Given the description of an element on the screen output the (x, y) to click on. 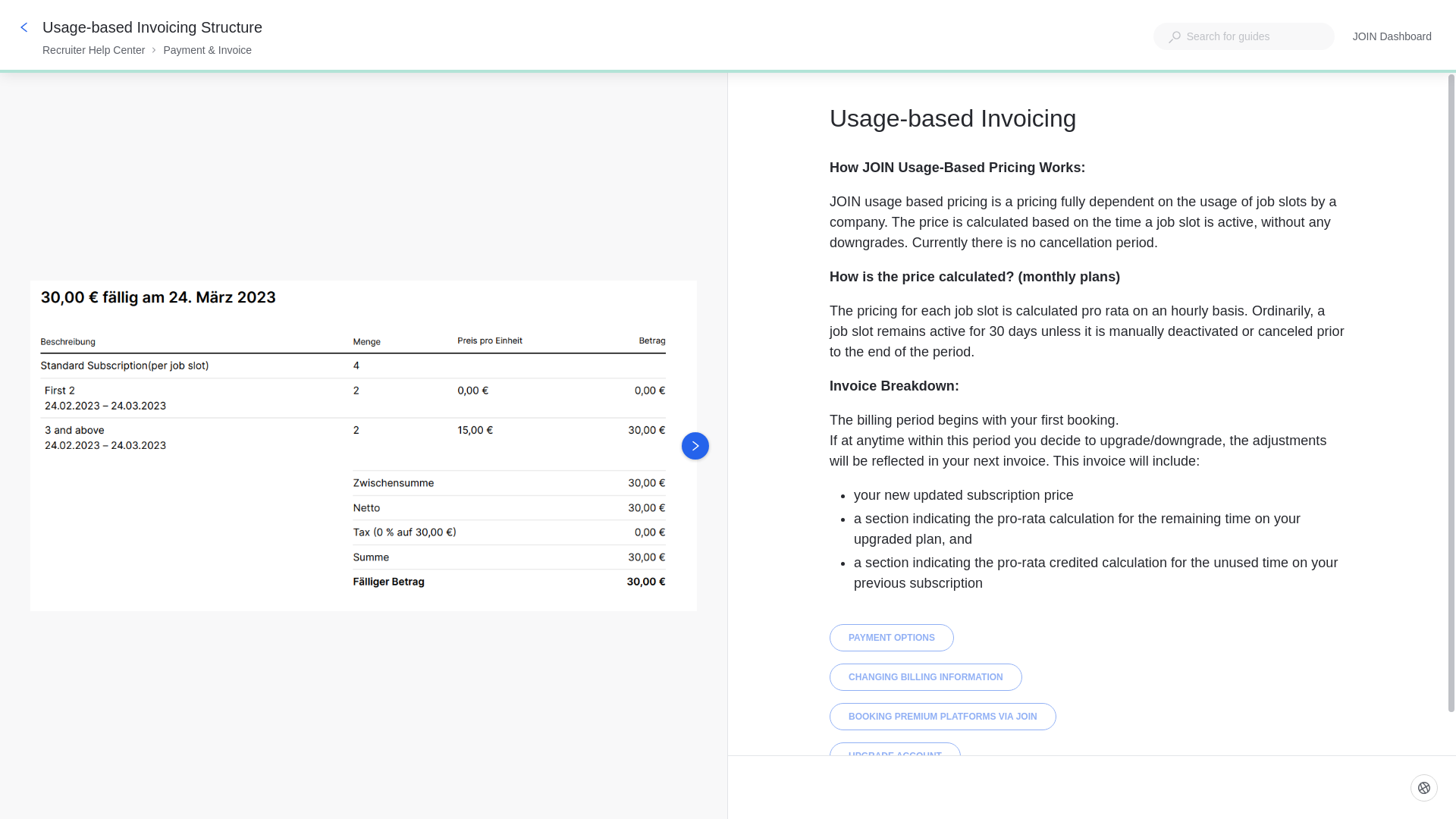
UPGRADE ACCOUNT (894, 755)
PAYMENT OPTIONS (891, 637)
Recruiter Help Center (93, 50)
CHANGING BILLING INFORMATION (925, 677)
submit (1424, 786)
BOOKING PREMIUM PLATFORMS VIA JOIN (943, 716)
JOIN Dashboard (1391, 36)
Usage-based Invoicing Structure (153, 27)
